Given the description of an element on the screen output the (x, y) to click on. 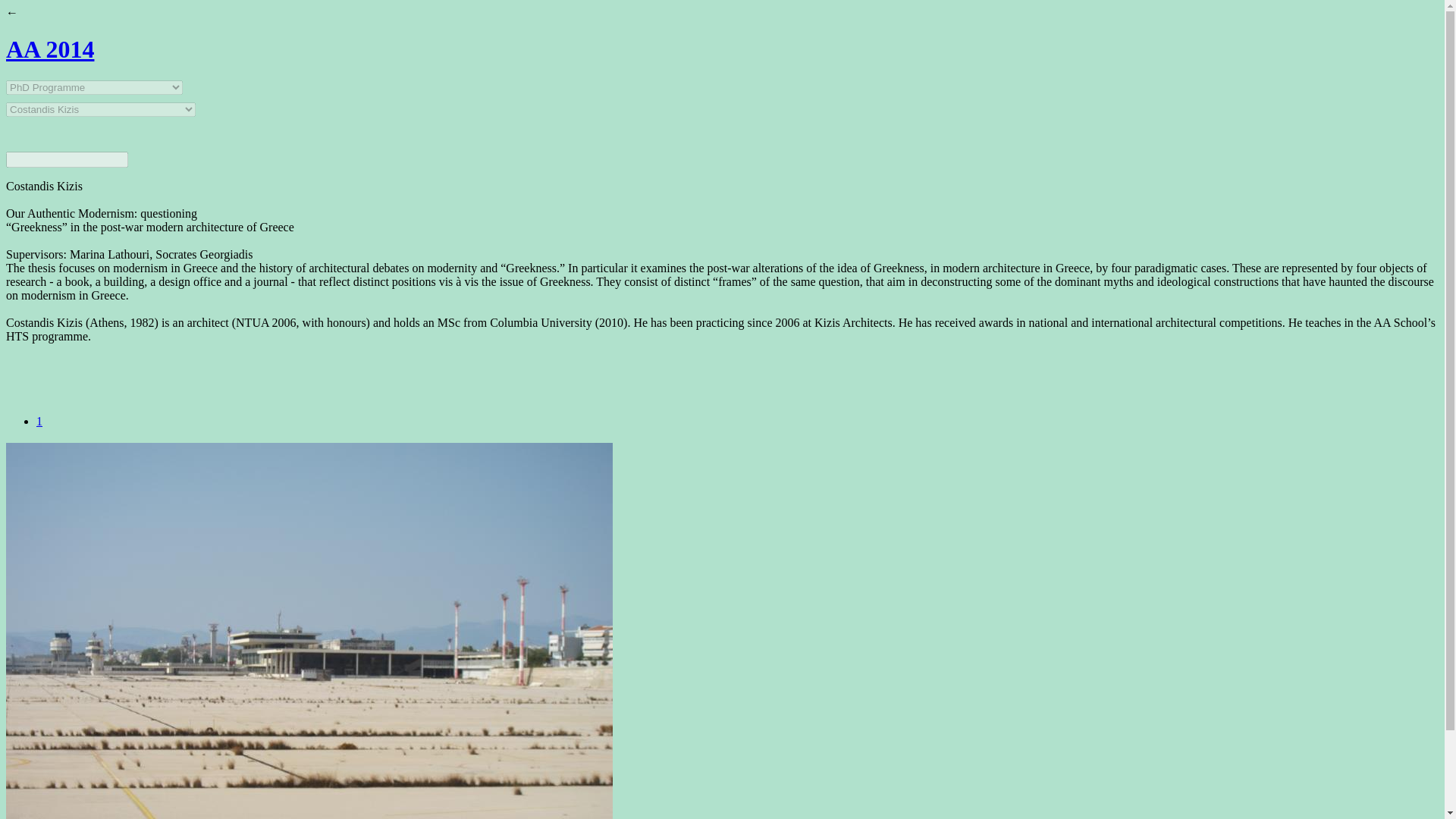
1 (39, 420)
AA 2014 (57, 48)
Next Image (39, 420)
